Given the description of an element on the screen output the (x, y) to click on. 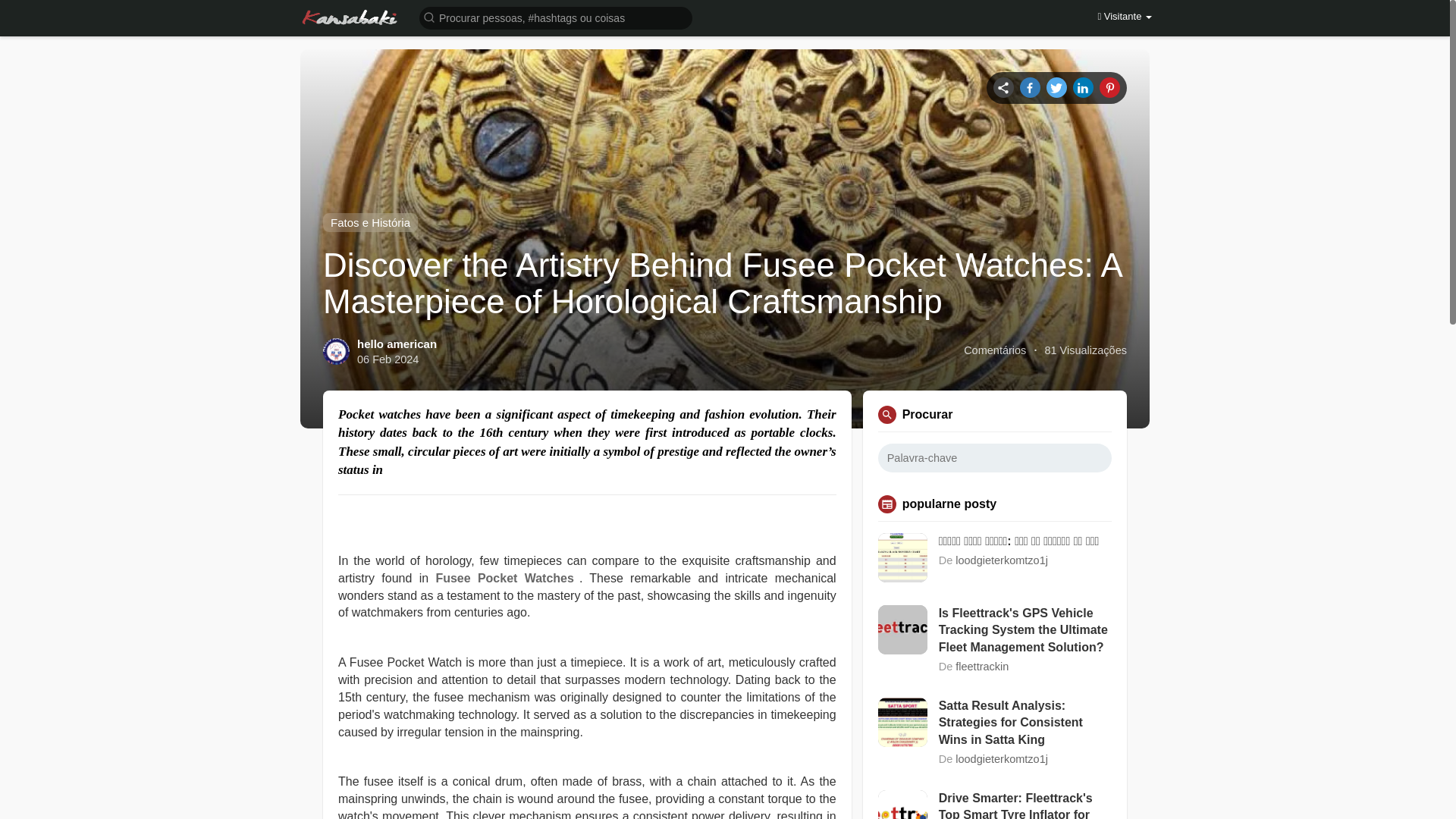
hello american (396, 343)
loodgieterkomtzo1j (1001, 560)
Visitante (1123, 17)
Facebook (1029, 86)
Linkedin (1082, 86)
Twitter (1056, 86)
Pinterest (1109, 86)
Fusee Pocket Watches (507, 577)
